Given the description of an element on the screen output the (x, y) to click on. 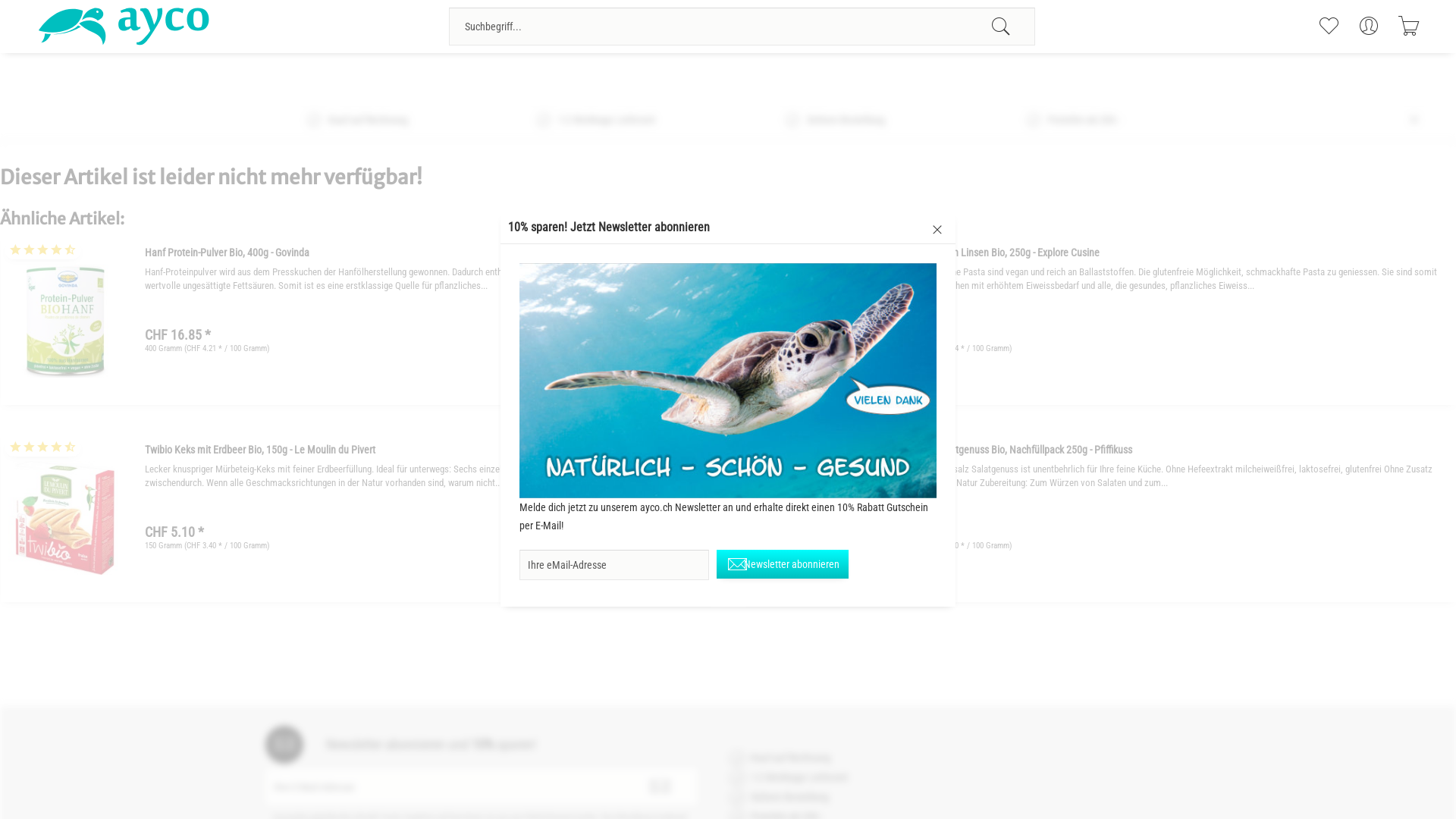
Mein Konto Element type: hover (1368, 25)
Hanf Protein-Pulver Bio, 400g - Govinda Element type: hover (64, 320)
Marken Element type: text (1169, 74)
Merkzettel Element type: hover (1328, 25)
Haushalt Element type: text (600, 74)
Twibio Keks mit Erdbeer Bio, 150g - Le Moulin du Pivert Element type: text (425, 446)
Penne aus Roten Linsen Bio, 250g - Explore Cusine Element type: hover (807, 320)
Tierfreunde Element type: text (894, 74)
Baby & Kids Element type: text (666, 74)
Hanf Protein-Pulver Bio, 400g - Govinda Element type: text (425, 249)
Home Element type: text (270, 74)
Twibio Keks mit Erdbeer Bio, 150g - Le Moulin du Pivert Element type: hover (64, 518)
Twibio Keks mit Erdbeer Bio, 150g - Le Moulin du Pivert Element type: hover (65, 517)
Warenkorb Element type: hover (1408, 25)
% Angebote % Element type: text (1103, 74)
Sport Element type: text (549, 74)
Hanf Protein-Pulver Bio, 400g - Govinda Element type: hover (65, 320)
Info & Geschenke Element type: text (976, 74)
Neu Element type: text (1044, 74)
Naturkosmetik Element type: text (743, 74)
Penne aus Roten Linsen Bio, 250g - Explore Cusine Element type: hover (807, 320)
Lebensmittel Element type: text (423, 74)
